Given the description of an element on the screen output the (x, y) to click on. 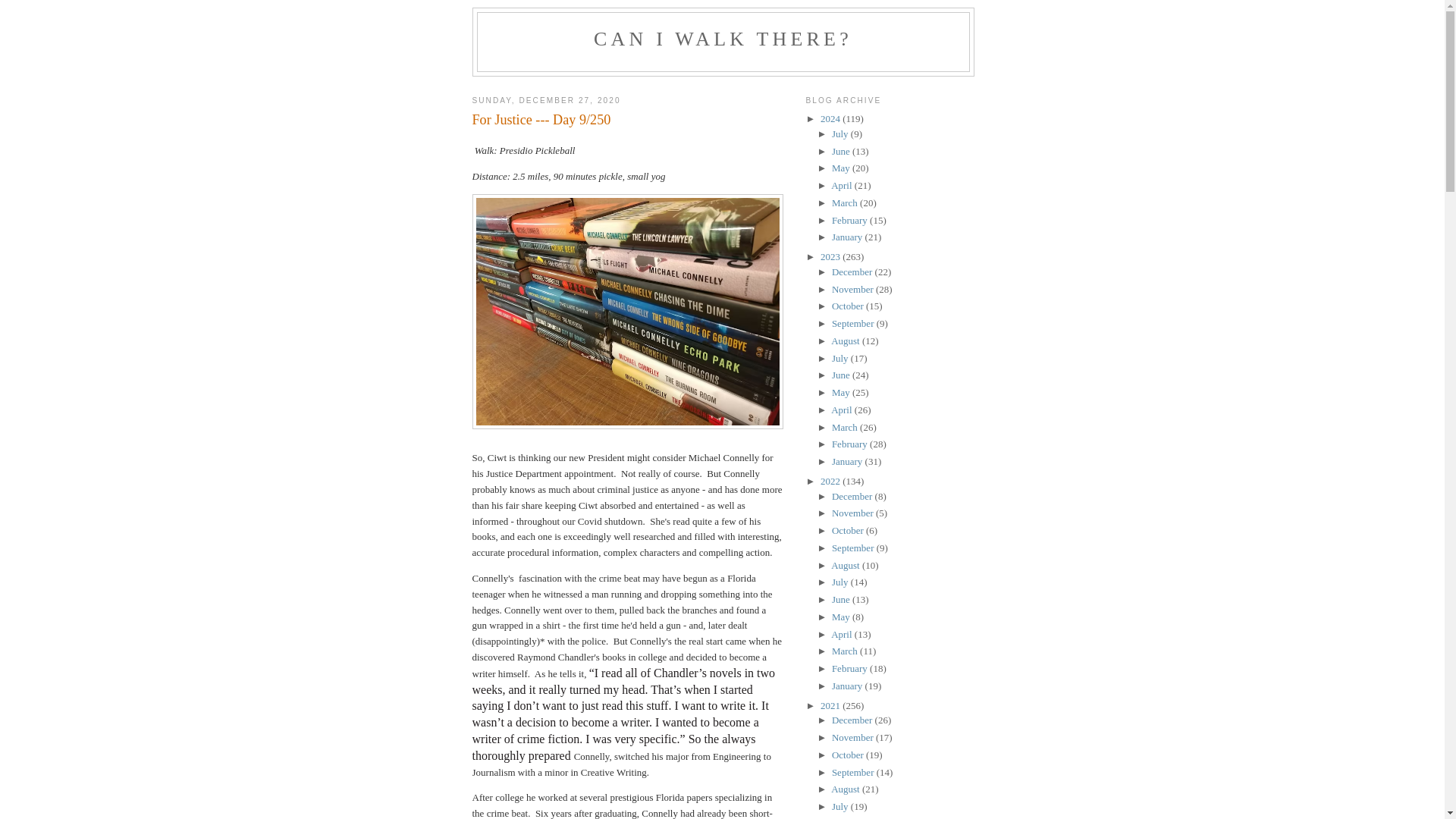
CAN I WALK THERE? (722, 38)
2024 (832, 118)
February (850, 220)
July (840, 133)
April (842, 184)
2023 (832, 256)
March (845, 202)
January (847, 236)
June (841, 151)
November (853, 288)
May (841, 167)
December (853, 271)
